Given the description of an element on the screen output the (x, y) to click on. 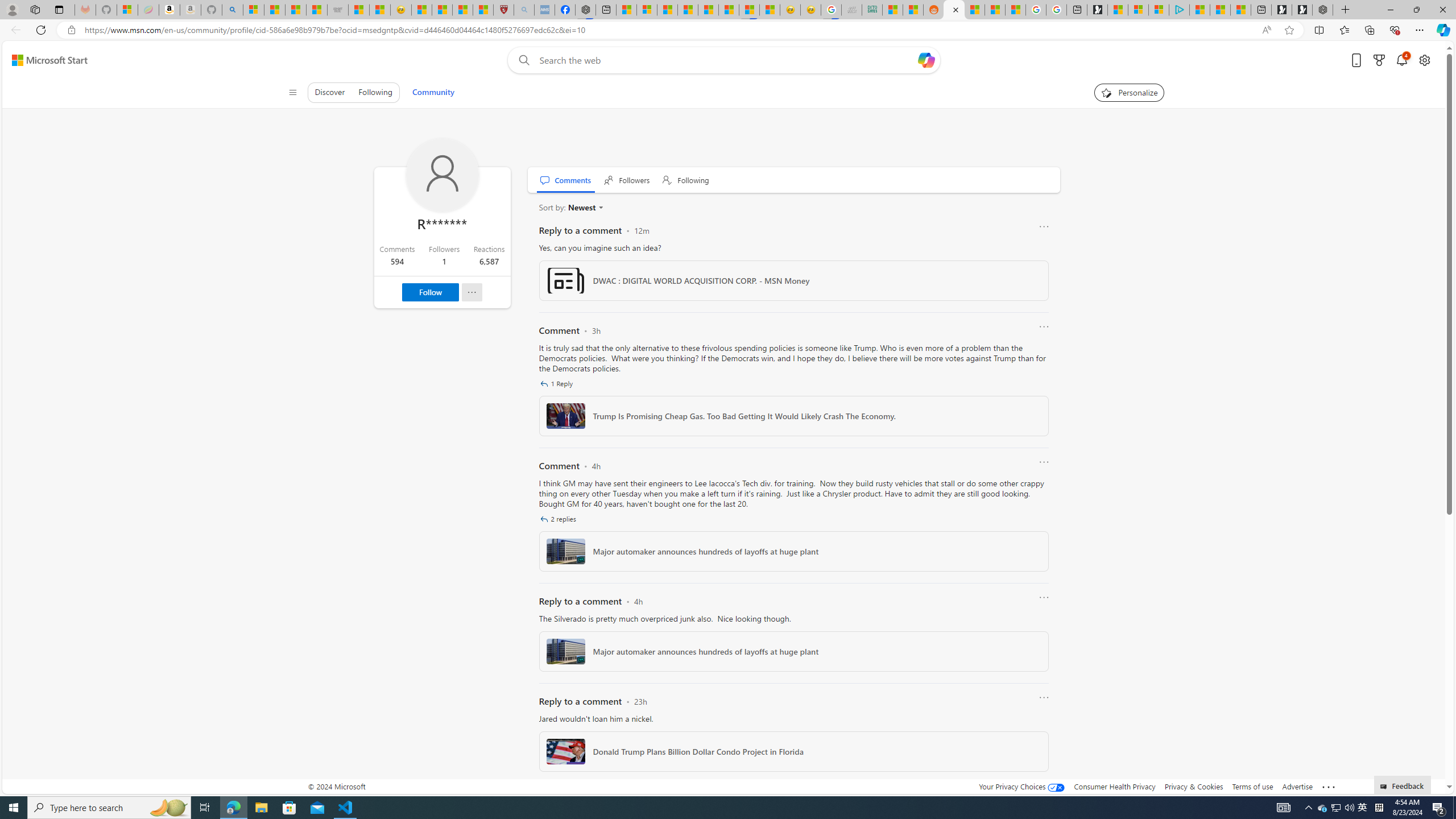
Class: oneFooter_seeMore-DS-EntryPoint1-1 (1328, 786)
 Comments (565, 179)
